Given the description of an element on the screen output the (x, y) to click on. 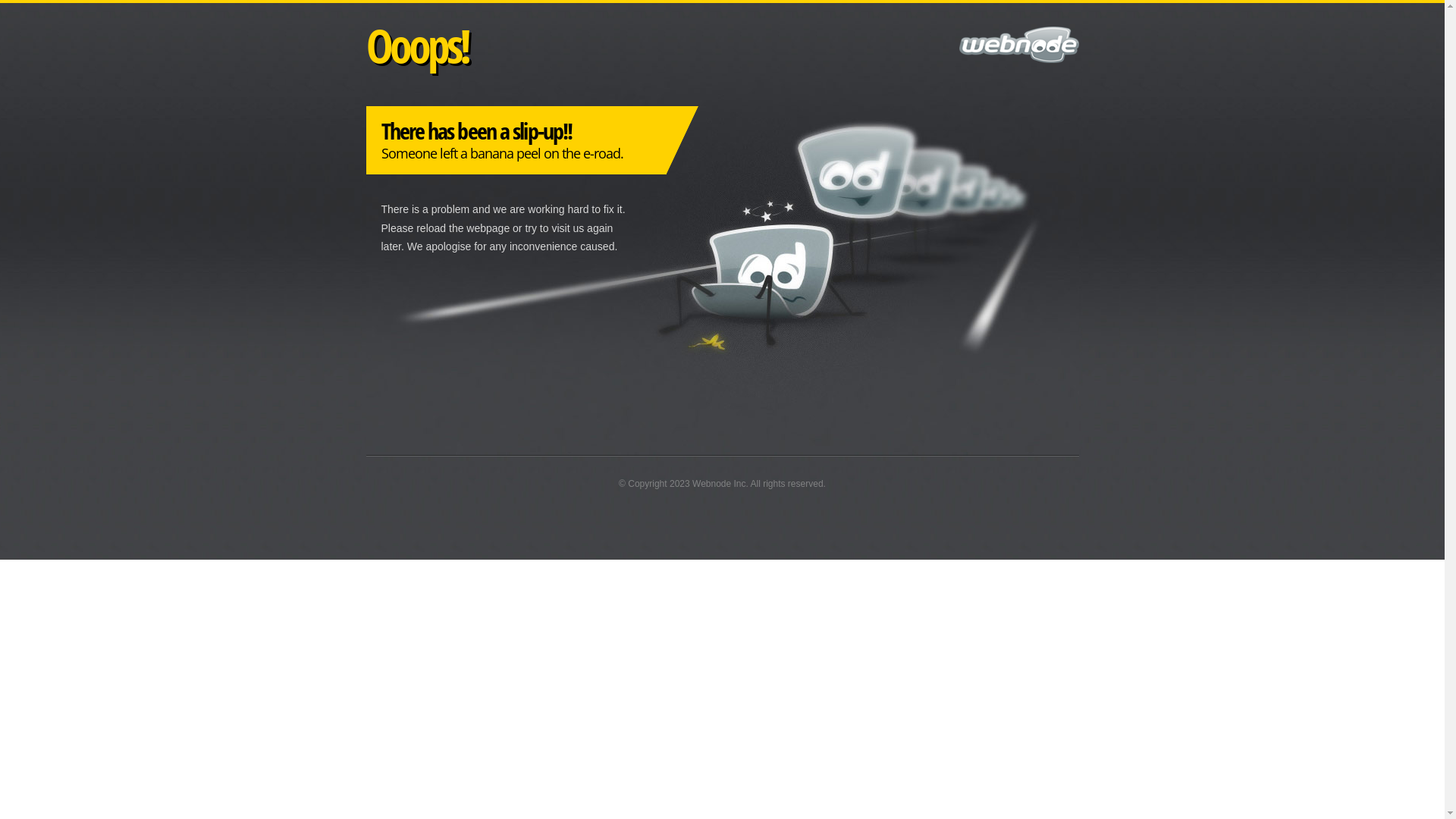
Webnode Inc Element type: text (719, 483)
